Given the description of an element on the screen output the (x, y) to click on. 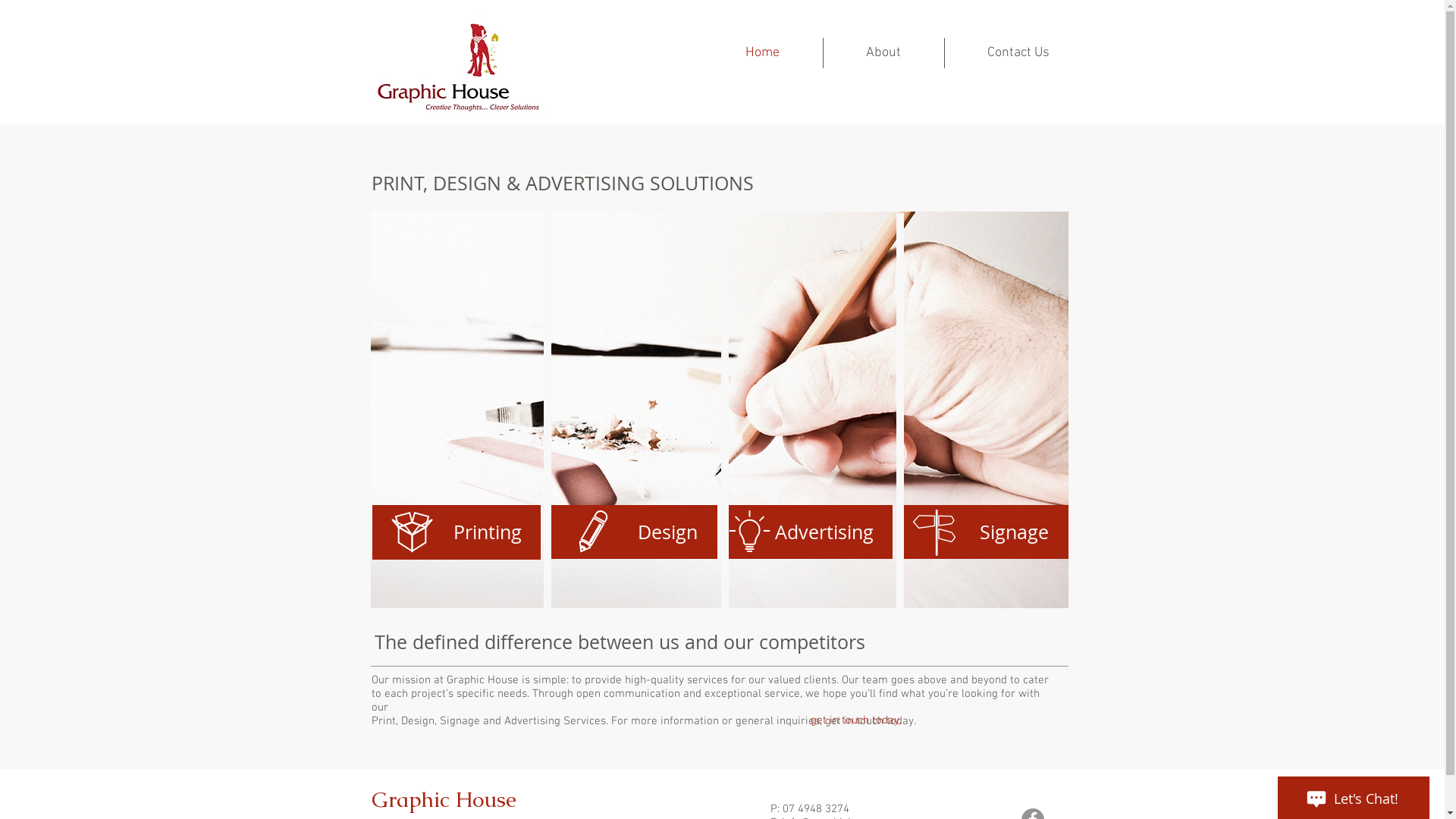
Contact Us Element type: text (1018, 52)
get in touch today. Element type: text (854, 720)
Home Element type: text (762, 52)
Design Element type: text (632, 531)
Graphic House Element type: text (443, 798)
Signage Element type: text (983, 531)
Advertising Element type: text (808, 531)
About Element type: text (883, 52)
Printing Element type: text (455, 532)
